Given the description of an element on the screen output the (x, y) to click on. 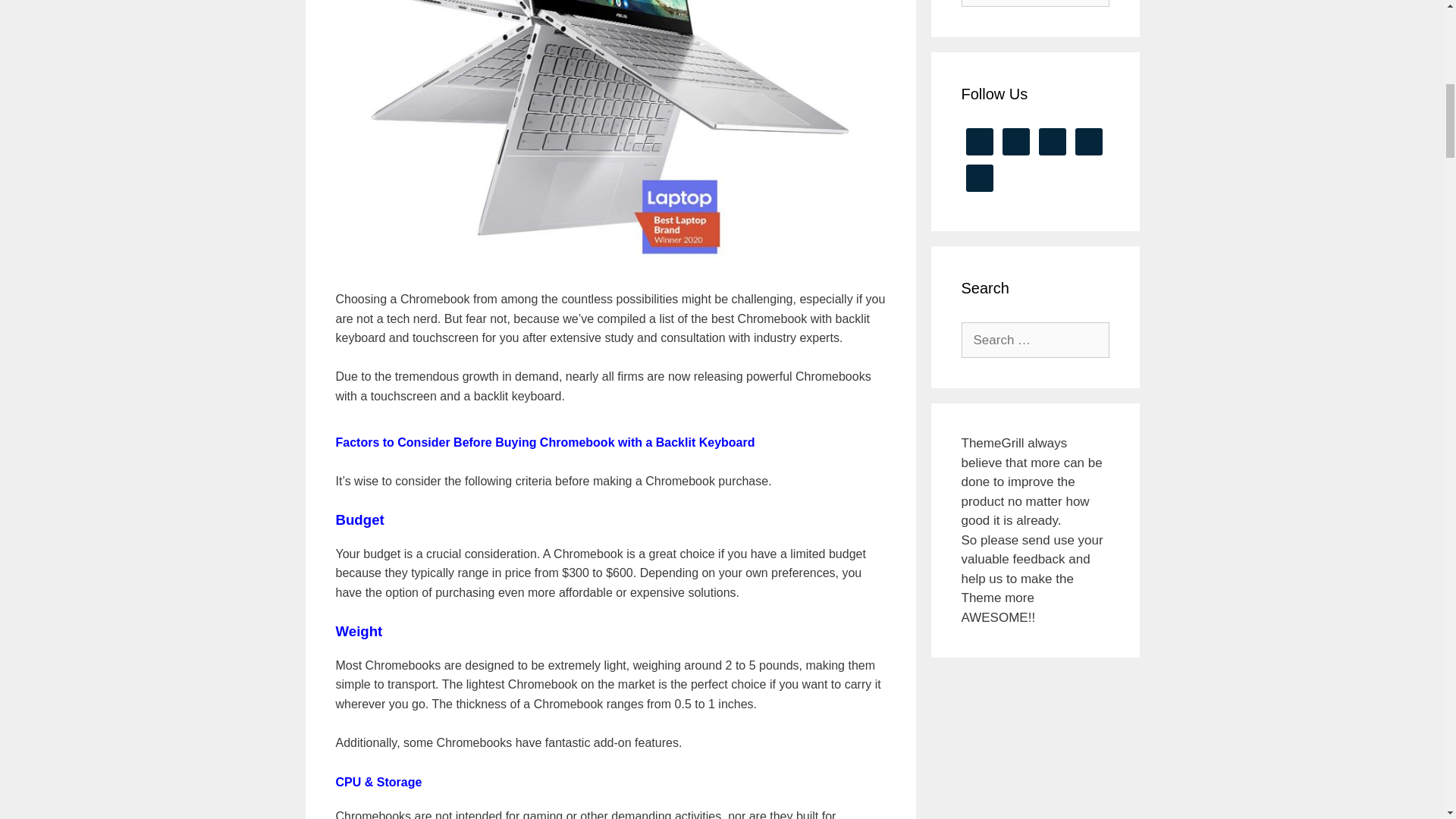
Search for: (1034, 3)
Search for: (1034, 339)
